Given the description of an element on the screen output the (x, y) to click on. 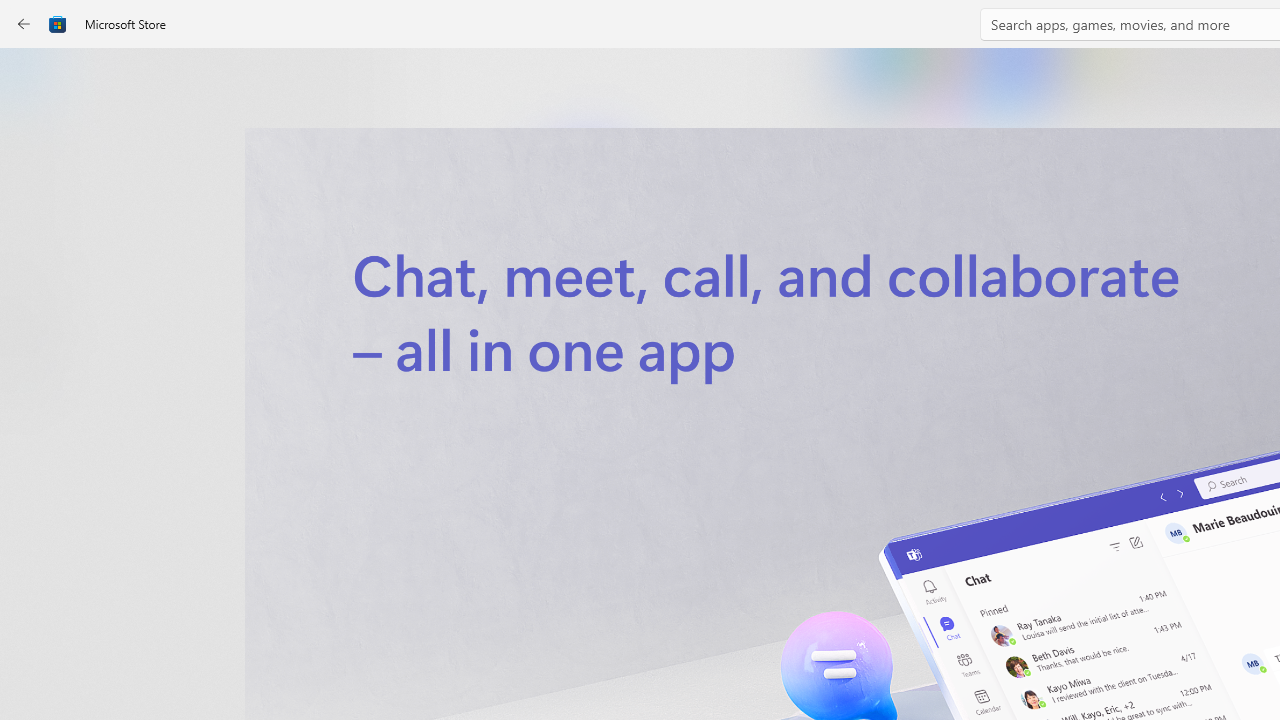
Sign in to review (882, 667)
Show more (854, 428)
Install (586, 428)
Back (24, 24)
2.6 stars. Click to skip to ratings and reviews (542, 543)
Microsoft Corporation (673, 333)
